Given the description of an element on the screen output the (x, y) to click on. 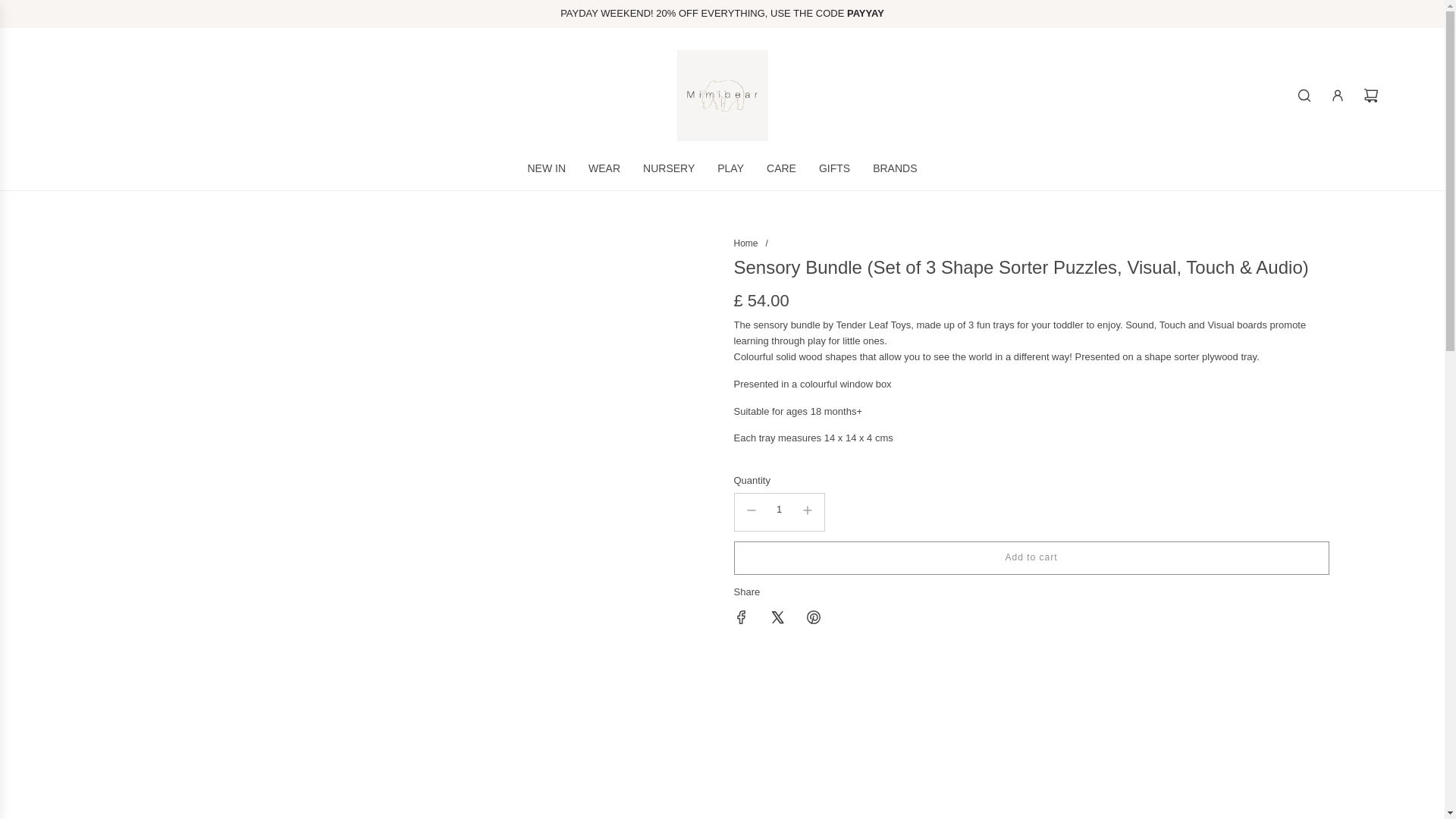
Back to the frontpage (745, 243)
